Given the description of an element on the screen output the (x, y) to click on. 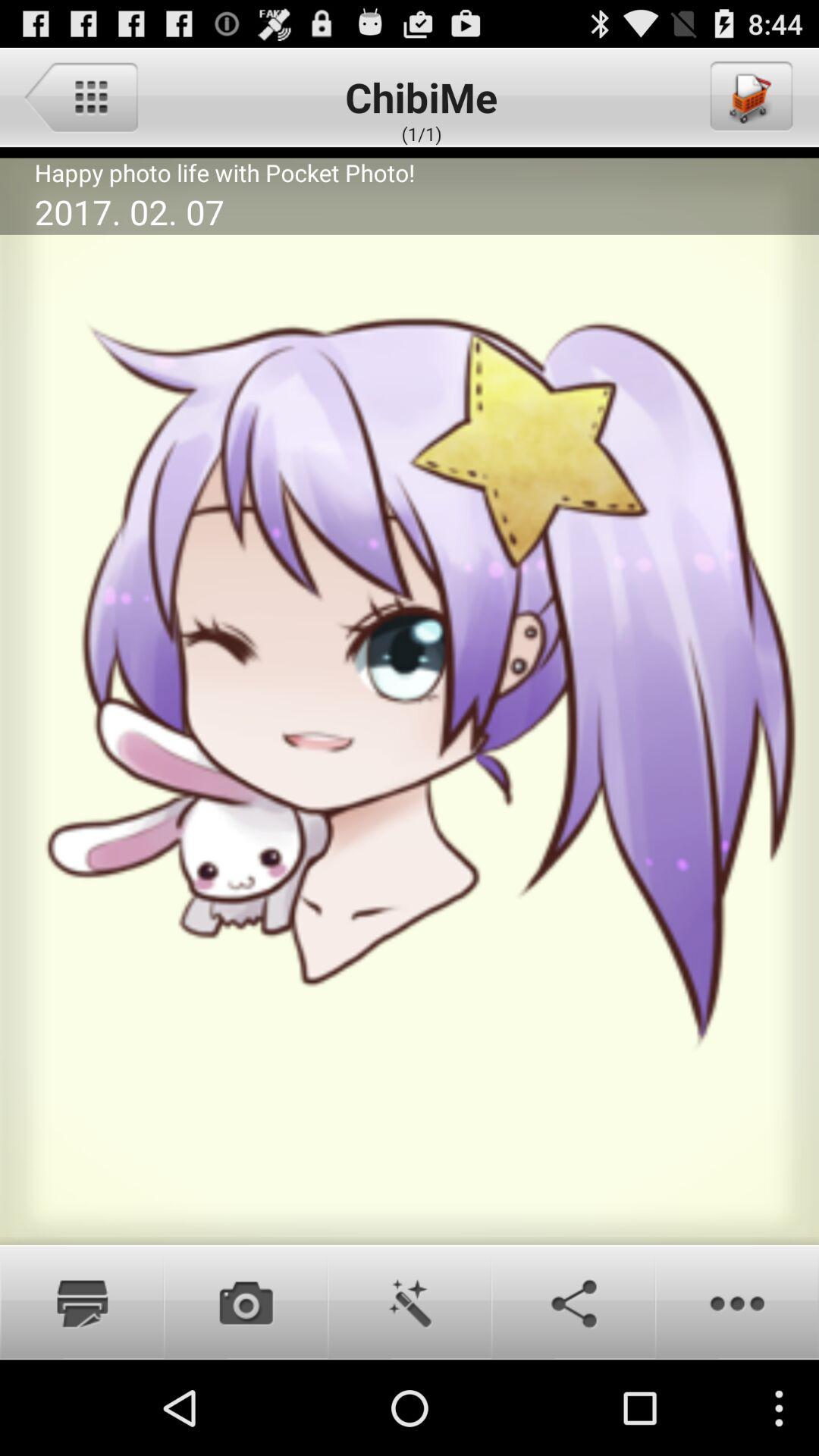
parameter button (80, 96)
